Given the description of an element on the screen output the (x, y) to click on. 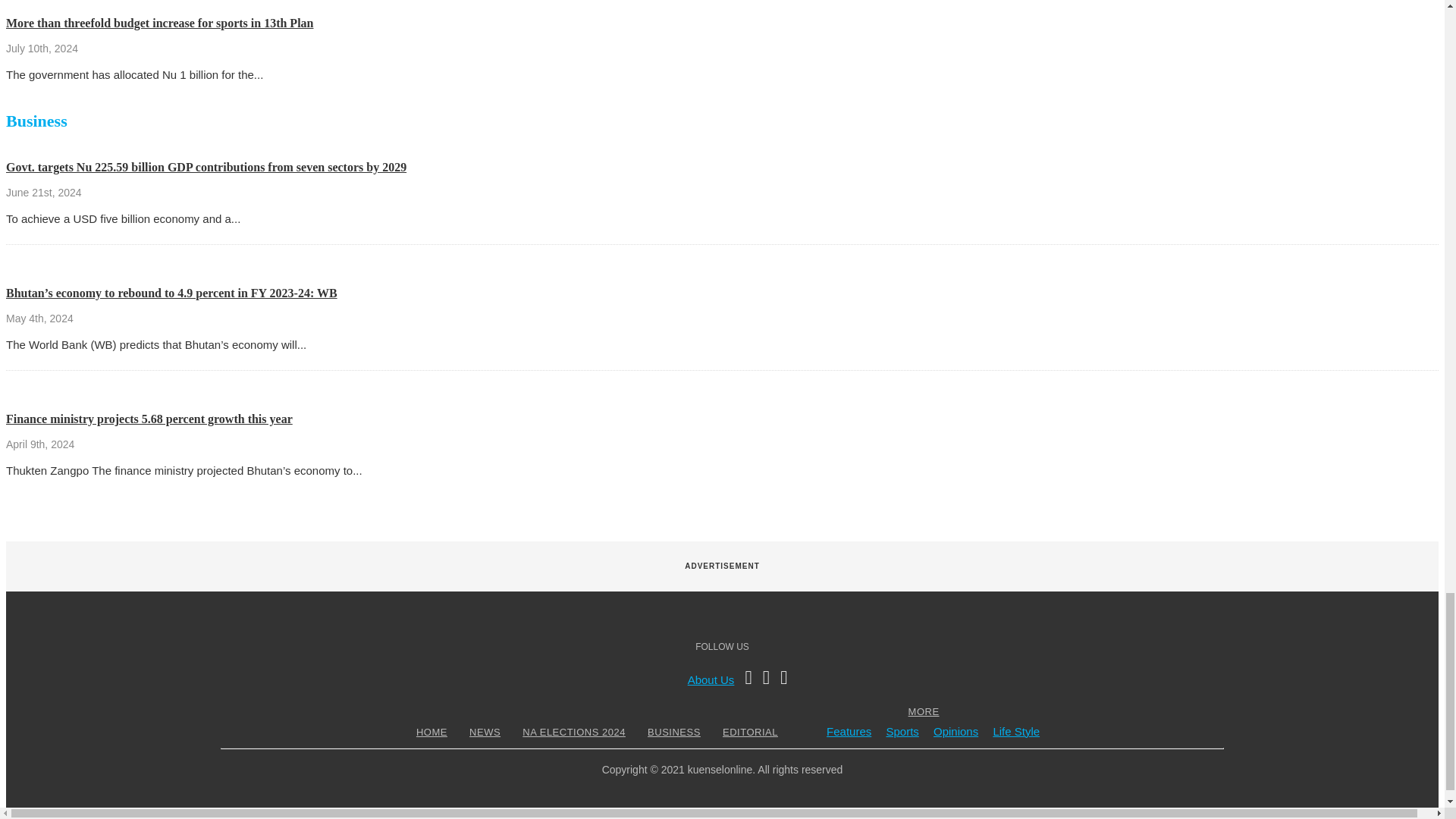
NA ELECTIONS 2024 (573, 731)
Finance ministry projects 5.68 percent growth this year (148, 418)
HOME (431, 731)
BUSINESS (673, 731)
About Us (711, 679)
MORE (923, 711)
More than threefold budget increase for sports in 13th Plan (159, 22)
EDITORIAL (750, 731)
NEWS (484, 731)
